Given the description of an element on the screen output the (x, y) to click on. 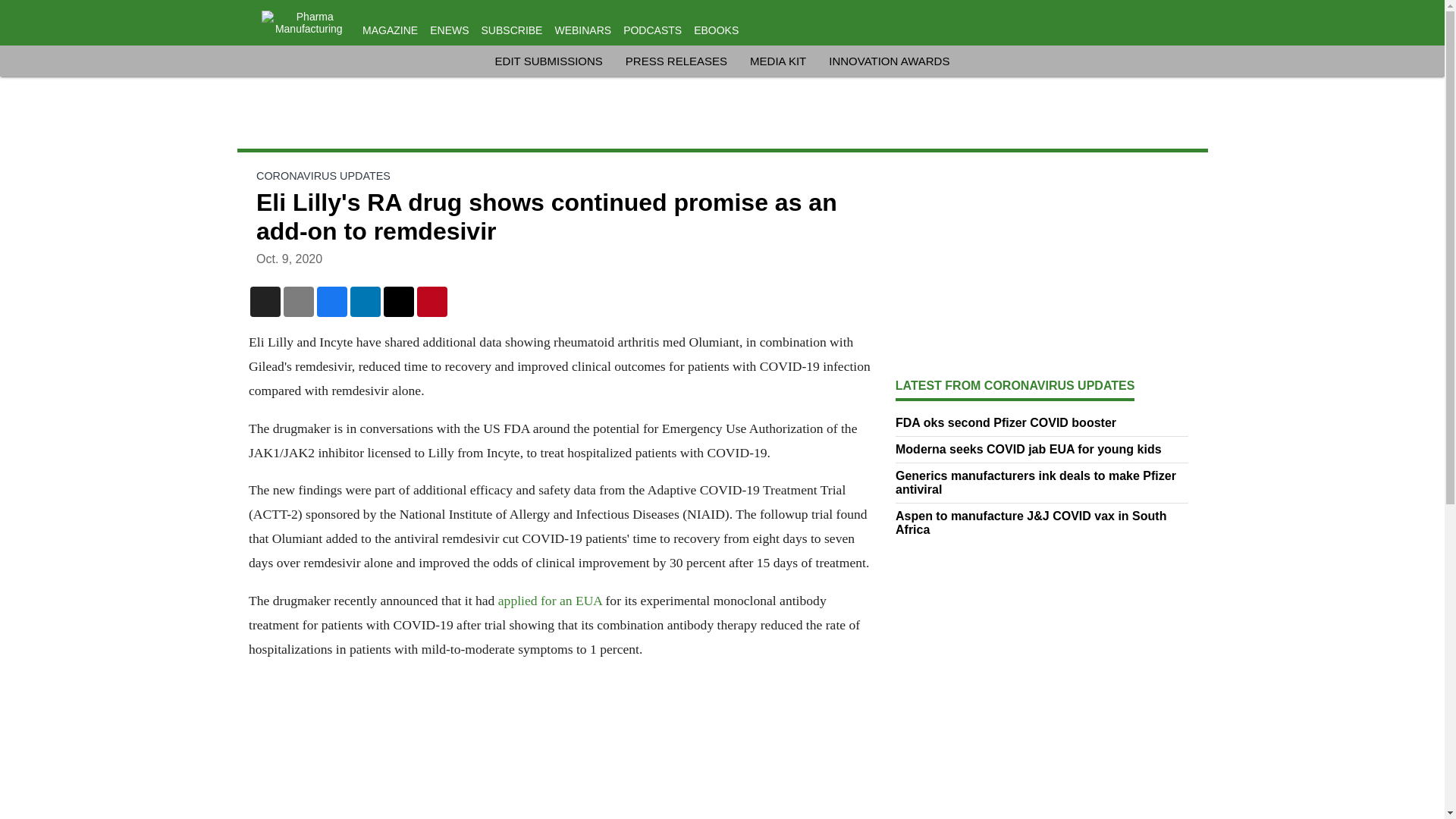
MAGAZINE (389, 30)
EDIT SUBMISSIONS (548, 60)
SUBSCRIBE (512, 30)
MEDIA KIT (777, 60)
ENEWS (448, 30)
INNOVATION AWARDS (888, 60)
Moderna seeks COVID jab EUA for young kids (1042, 449)
applied for an EUA (549, 600)
CORONAVIRUS UPDATES (323, 175)
WEBINARS (582, 30)
PRESS RELEASES (676, 60)
Generics manufacturers ink deals to make Pfizer antiviral (1042, 482)
EBOOKS (716, 30)
FDA oks second Pfizer COVID booster (1042, 422)
PODCASTS (652, 30)
